Given the description of an element on the screen output the (x, y) to click on. 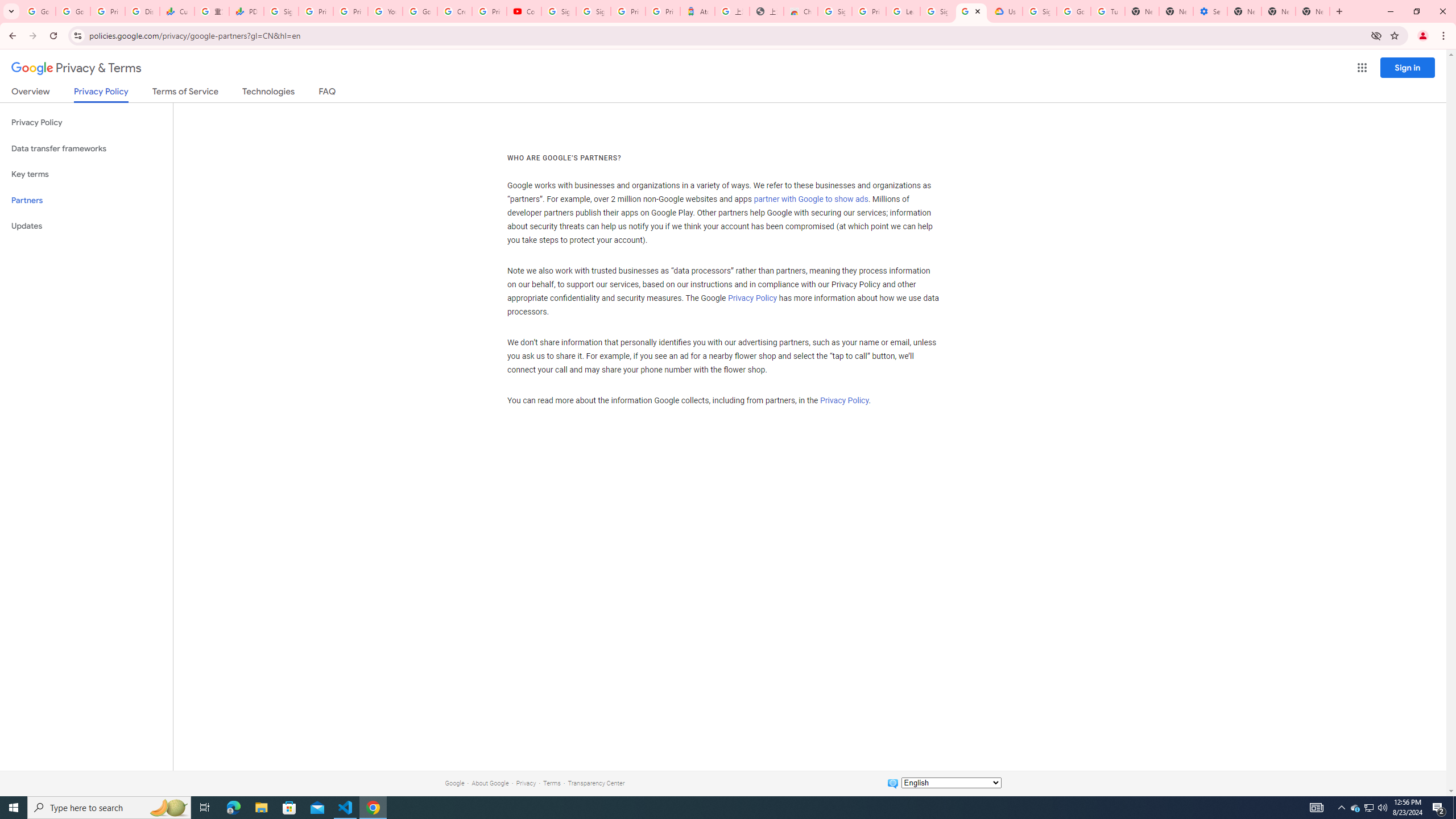
Sign in - Google Accounts (592, 11)
Sign in - Google Accounts (281, 11)
Google Account Help (1073, 11)
New Tab (1312, 11)
Transparency Center (595, 783)
Terms (551, 783)
PDD Holdings Inc - ADR (PDD) Price & News - Google Finance (246, 11)
About Google (490, 783)
